Given the description of an element on the screen output the (x, y) to click on. 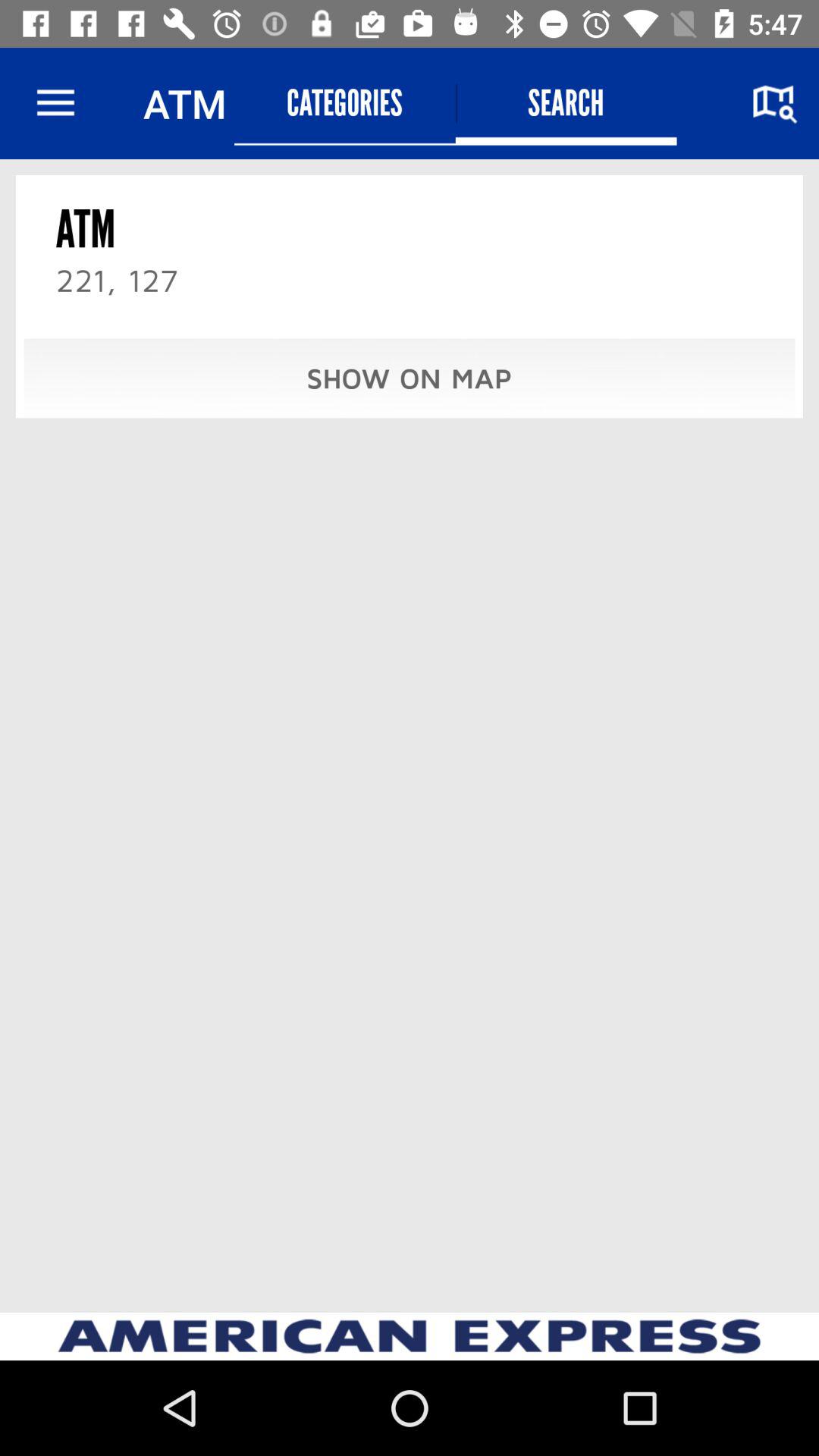
tap item above the show on map item (344, 103)
